Given the description of an element on the screen output the (x, y) to click on. 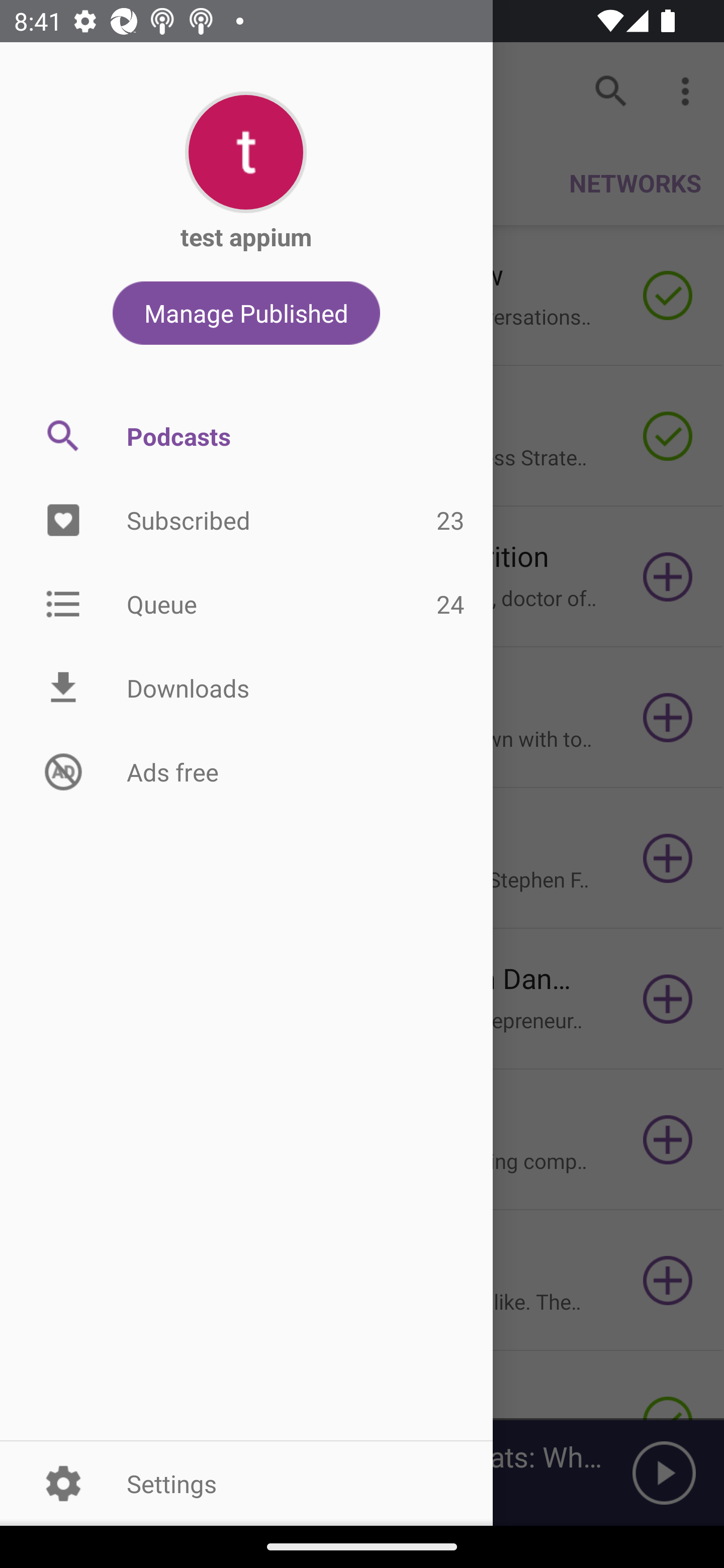
Manage Published (246, 312)
Picture Podcasts (246, 435)
Picture Subscribed 23 (246, 520)
Picture Queue 24 (246, 603)
Picture Downloads (246, 688)
Picture Ads free (246, 771)
Settings Picture Settings (246, 1482)
